Given the description of an element on the screen output the (x, y) to click on. 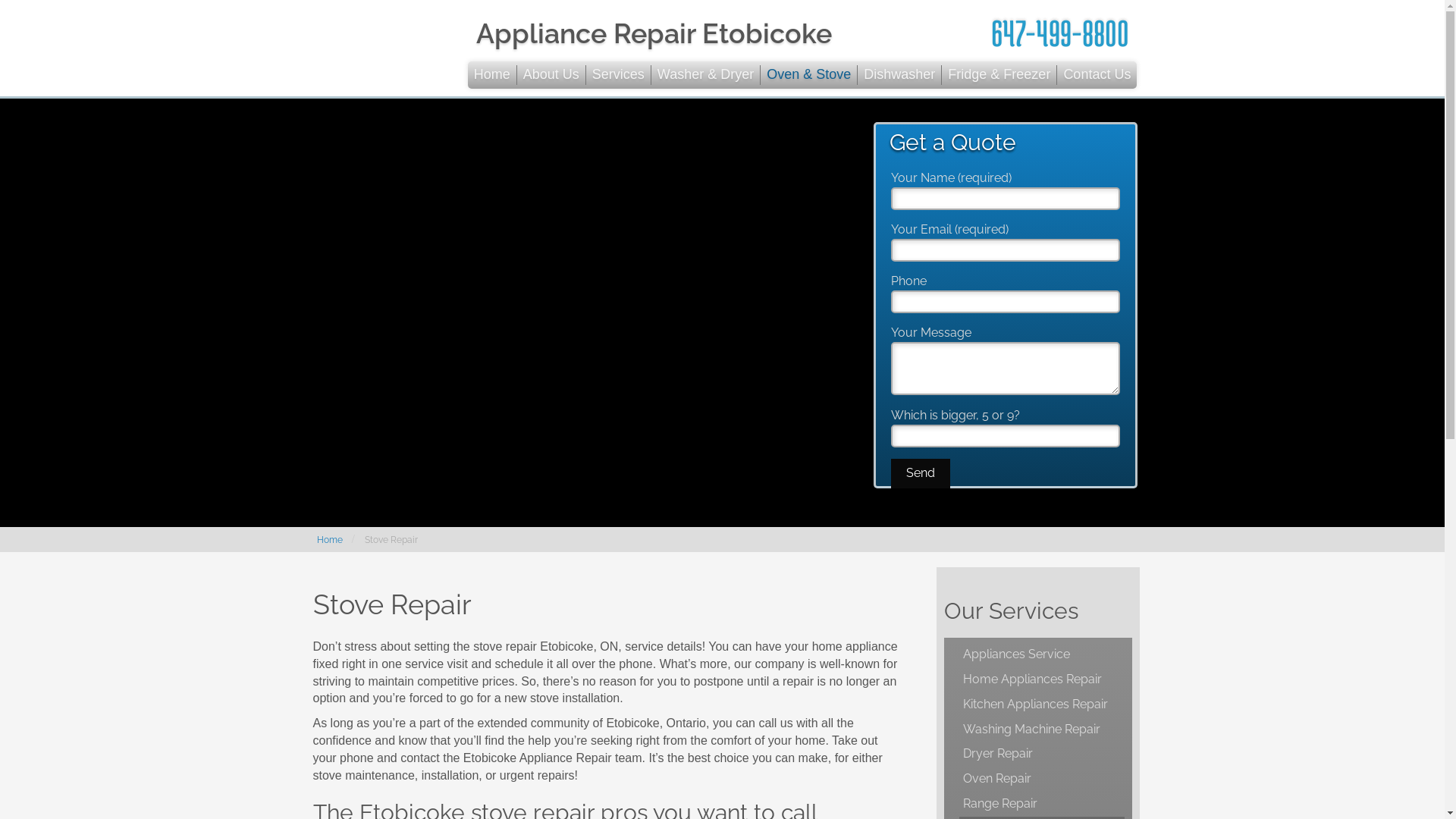
Home Element type: text (329, 539)
Appliances Service Element type: text (1041, 654)
Washer & Dryer Element type: text (705, 74)
Dryer Repair Element type: text (1041, 753)
Washing Machine Repair Element type: text (1041, 729)
Send Element type: text (920, 473)
647-499-8800 Element type: text (1060, 32)
Oven Repair Element type: text (1041, 778)
Range Repair Element type: text (1041, 803)
Services Element type: text (618, 74)
Oven & Stove Element type: text (808, 74)
Home Element type: text (492, 74)
Dishwasher Element type: text (899, 74)
Fridge & Freezer Element type: text (999, 74)
Kitchen Appliances Repair Element type: text (1041, 704)
Home Appliances Repair Element type: text (1041, 679)
About Us Element type: text (551, 74)
Contact Us Element type: text (1096, 74)
